Given the description of an element on the screen output the (x, y) to click on. 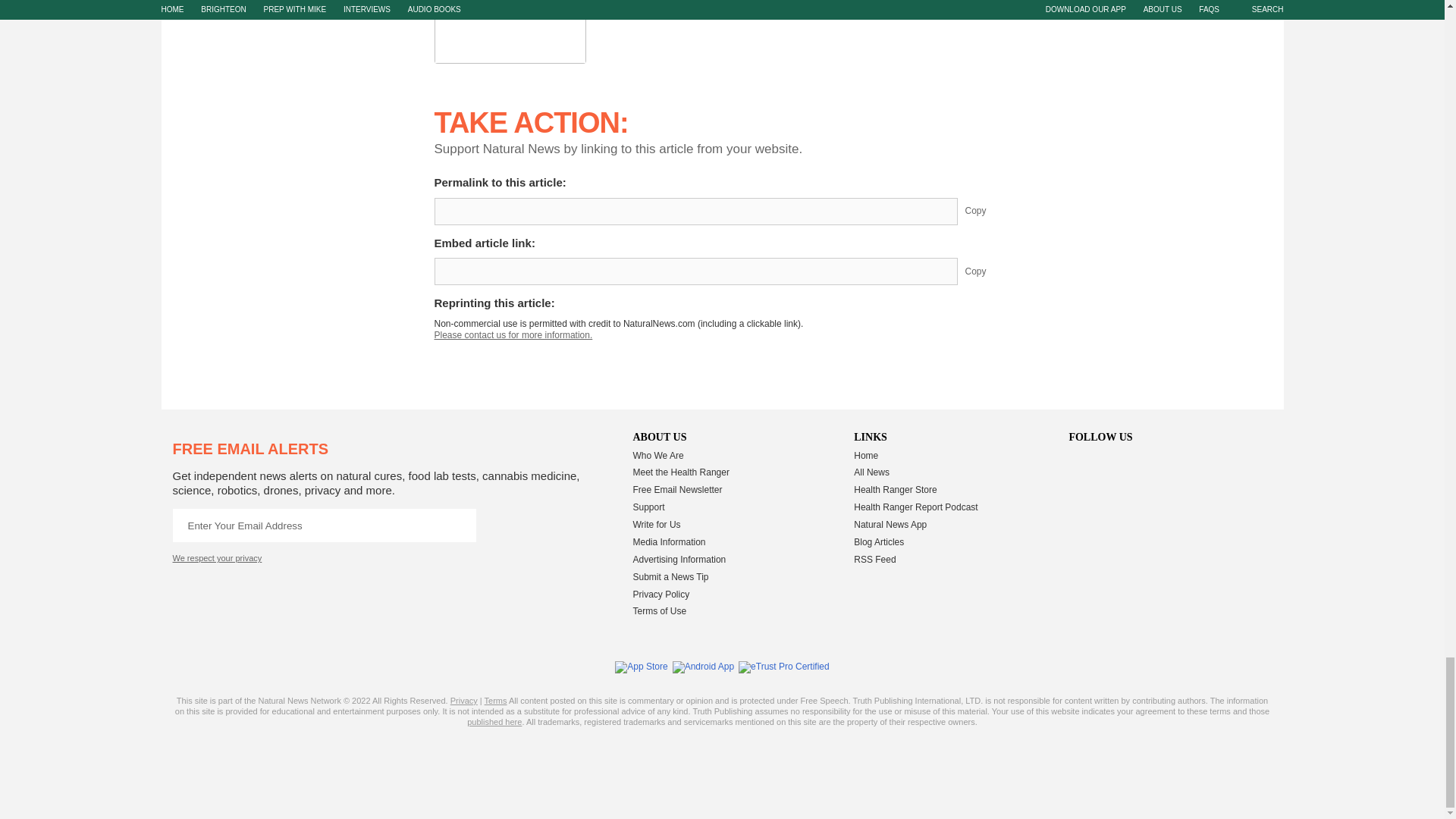
eTrust Pro Certified (783, 666)
Continue (459, 525)
Copy Embed Link (986, 271)
Copy Permalink (986, 211)
